Given the description of an element on the screen output the (x, y) to click on. 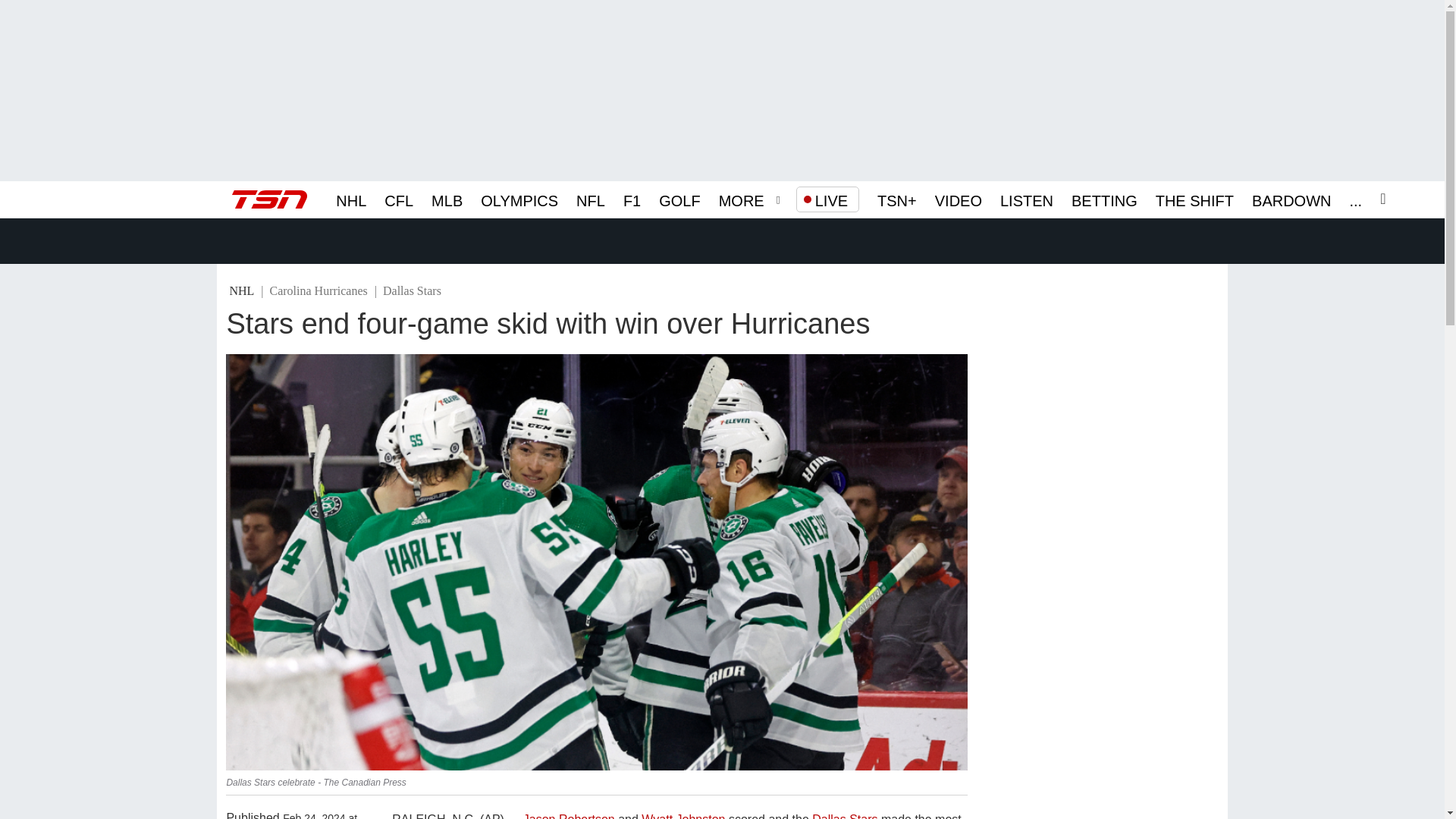
GOLF (679, 199)
MLB (446, 199)
MORE (741, 199)
OLYMPICS (518, 199)
CFL (398, 199)
TSN (269, 199)
NFL (590, 199)
NHL (351, 199)
